Given the description of an element on the screen output the (x, y) to click on. 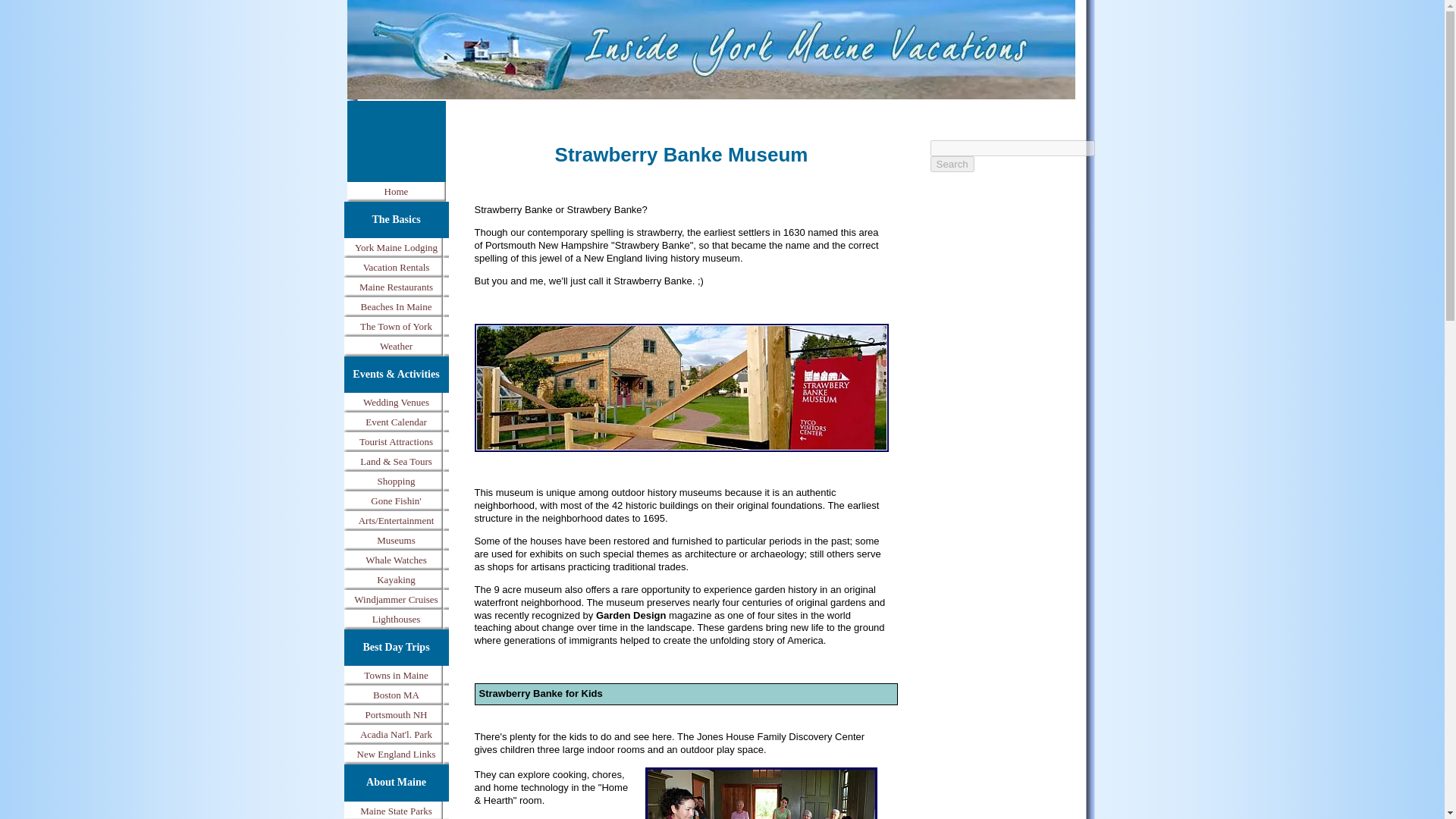
Acadia Nat'l. Park (395, 734)
Wedding Venues (395, 402)
Kayaking (395, 579)
Shopping (395, 481)
Maine State Parks (395, 810)
Lighthouses (395, 619)
Advertisement (395, 135)
Weather (395, 346)
Tourist Attractions (395, 442)
New England Links (395, 754)
